Given the description of an element on the screen output the (x, y) to click on. 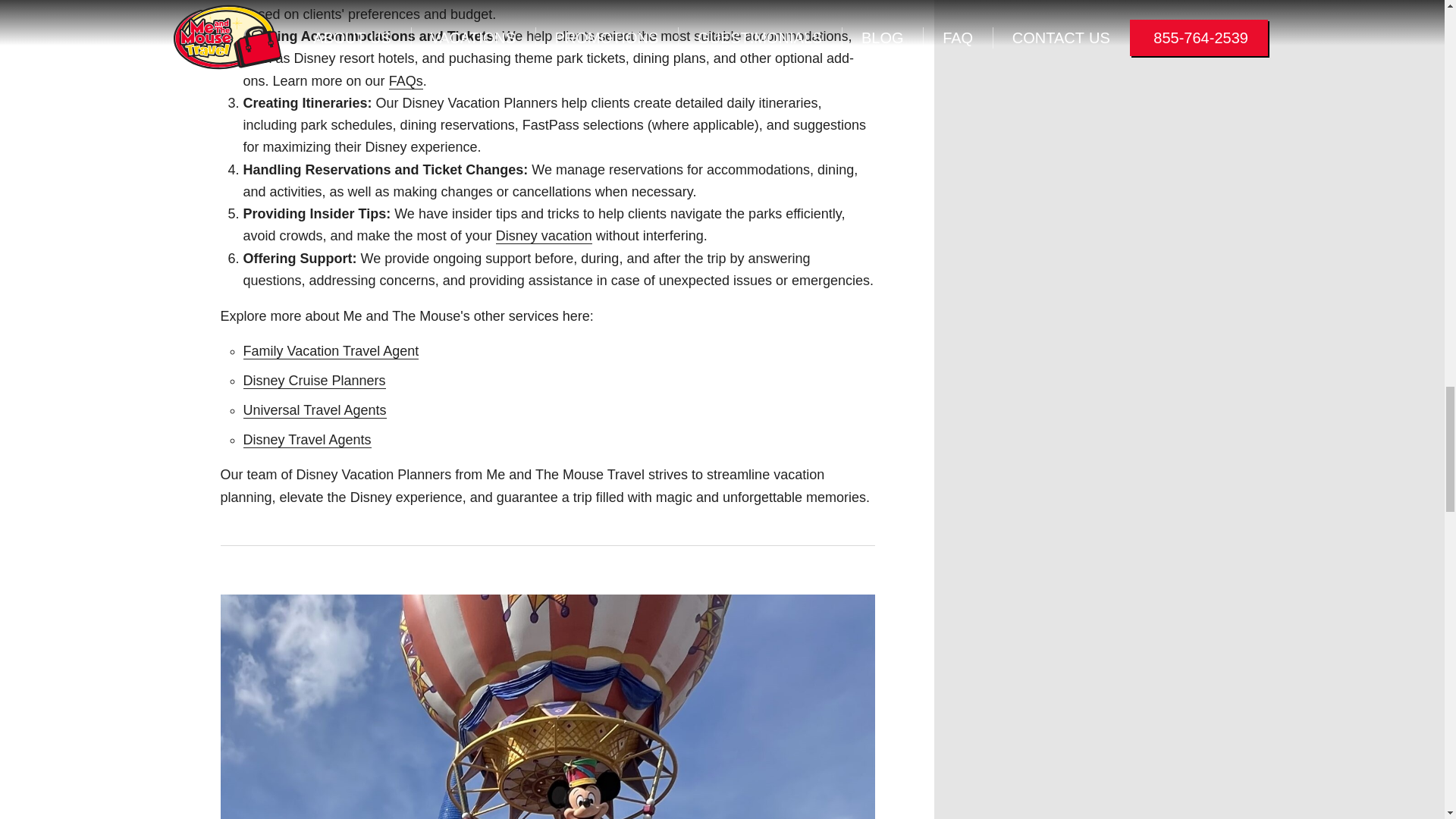
Disney Destinations (544, 236)
